Given the description of an element on the screen output the (x, y) to click on. 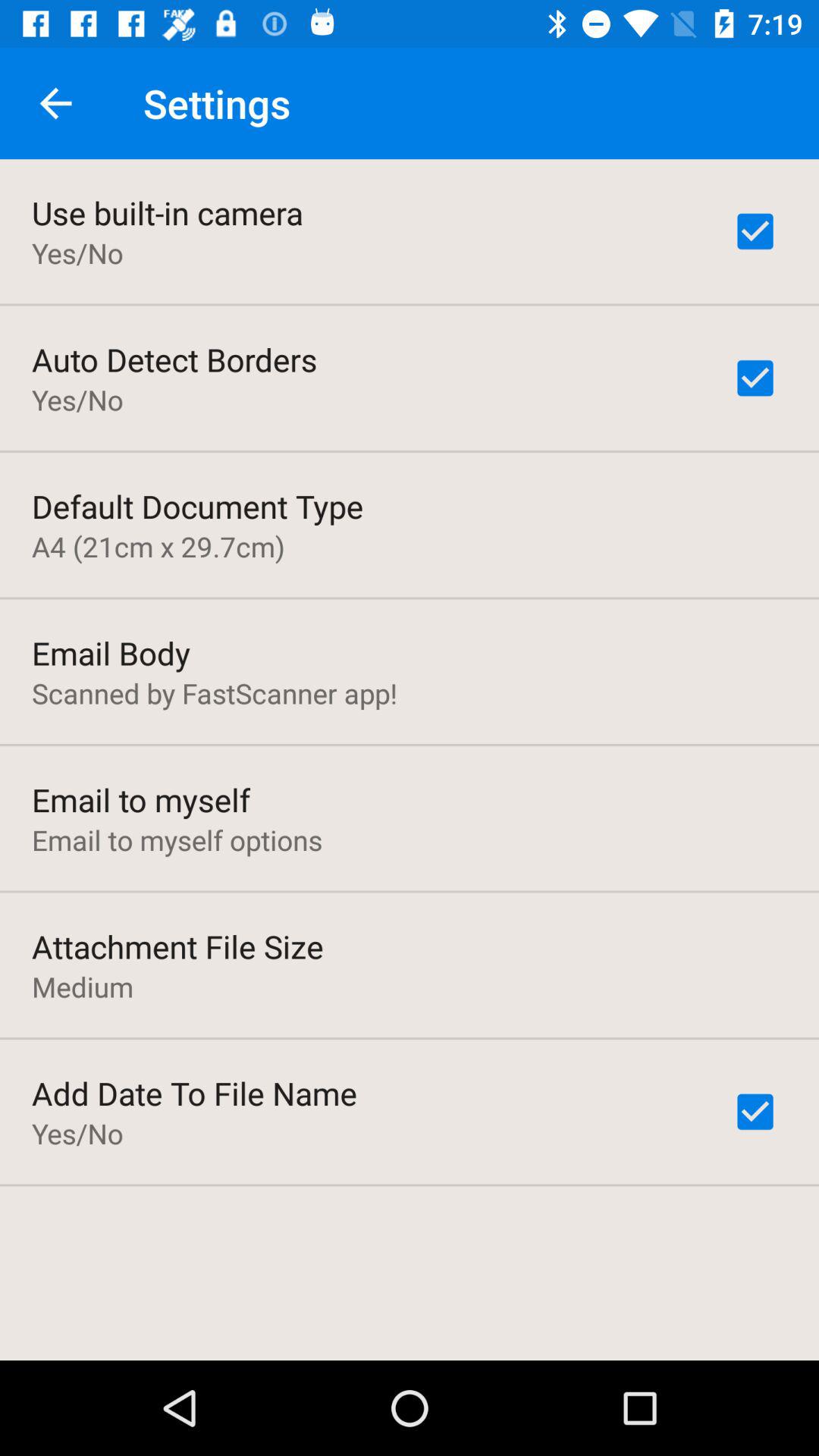
click the item to the left of the settings item (55, 103)
